Given the description of an element on the screen output the (x, y) to click on. 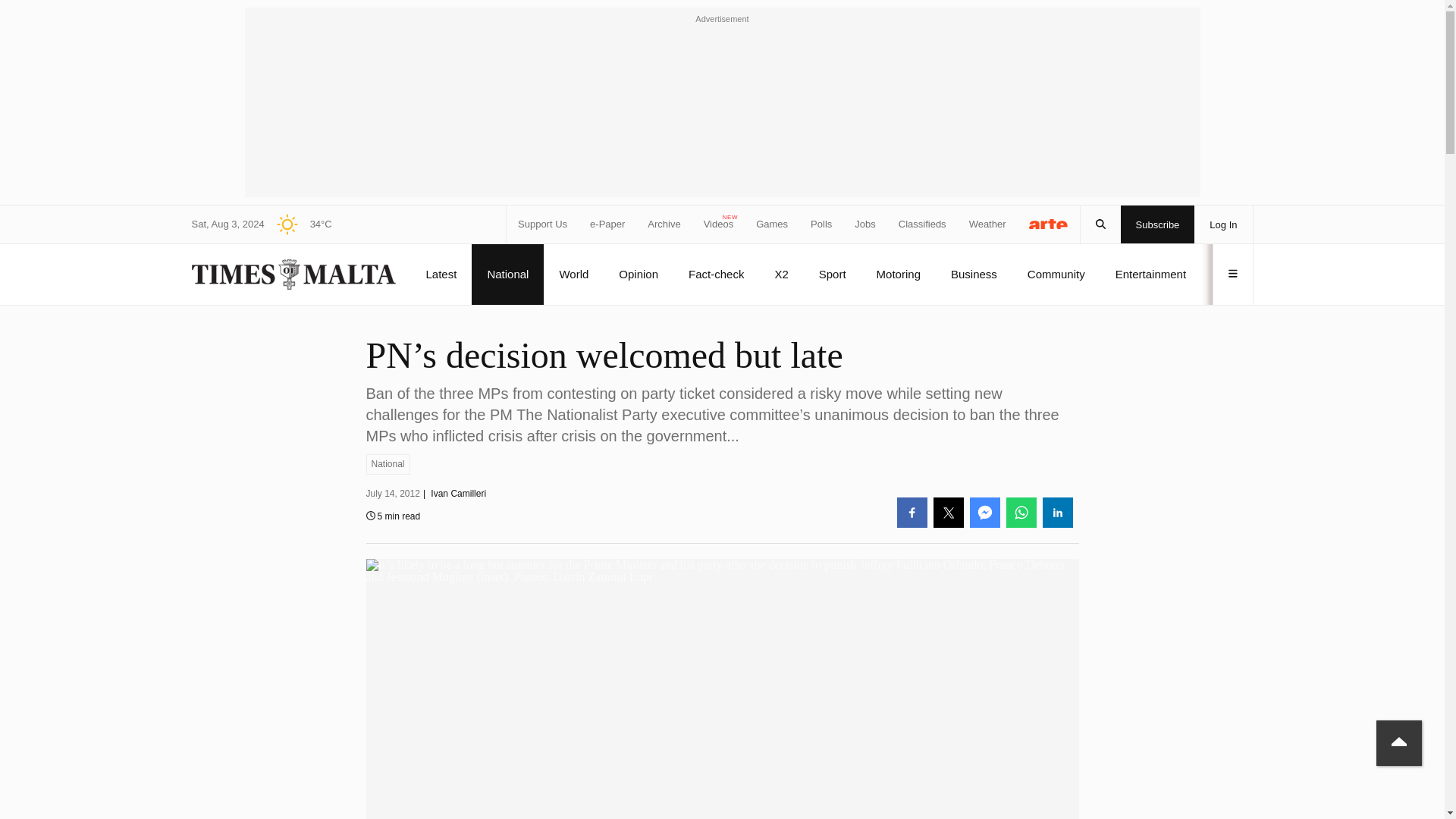
Additional weather information (297, 224)
Community (1055, 274)
Fact-check (716, 274)
e-Paper (606, 224)
National (387, 464)
Subscribe (1158, 224)
Support Us (542, 224)
View more articles by Ivan Camilleri (458, 493)
ARTE (1048, 223)
Ivan Camilleri (458, 493)
Log In (1222, 224)
Weather (987, 224)
Classifieds (922, 224)
